Given the description of an element on the screen output the (x, y) to click on. 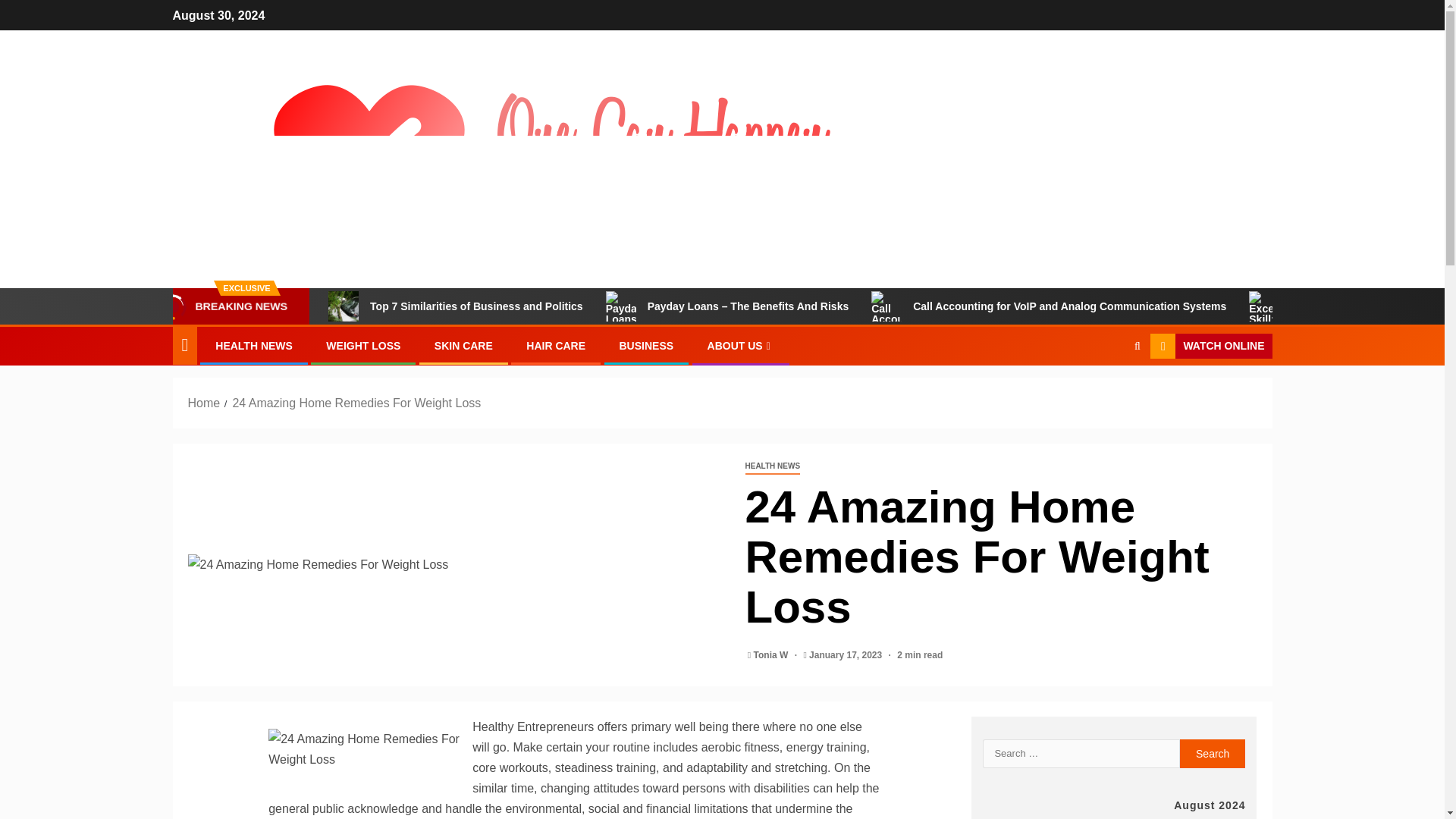
Home (204, 402)
24 Amazing Home Remedies For Weight Loss (355, 402)
Top 7 Similarities of Business and Politics (343, 306)
Search (1212, 753)
24 Amazing Home Remedies For Weight Loss (454, 564)
Tonia W (772, 655)
ABOUT US (740, 345)
HEALTH NEWS (771, 466)
24 Amazing Home Remedies For Weight Loss (365, 748)
Search (1212, 753)
